Given the description of an element on the screen output the (x, y) to click on. 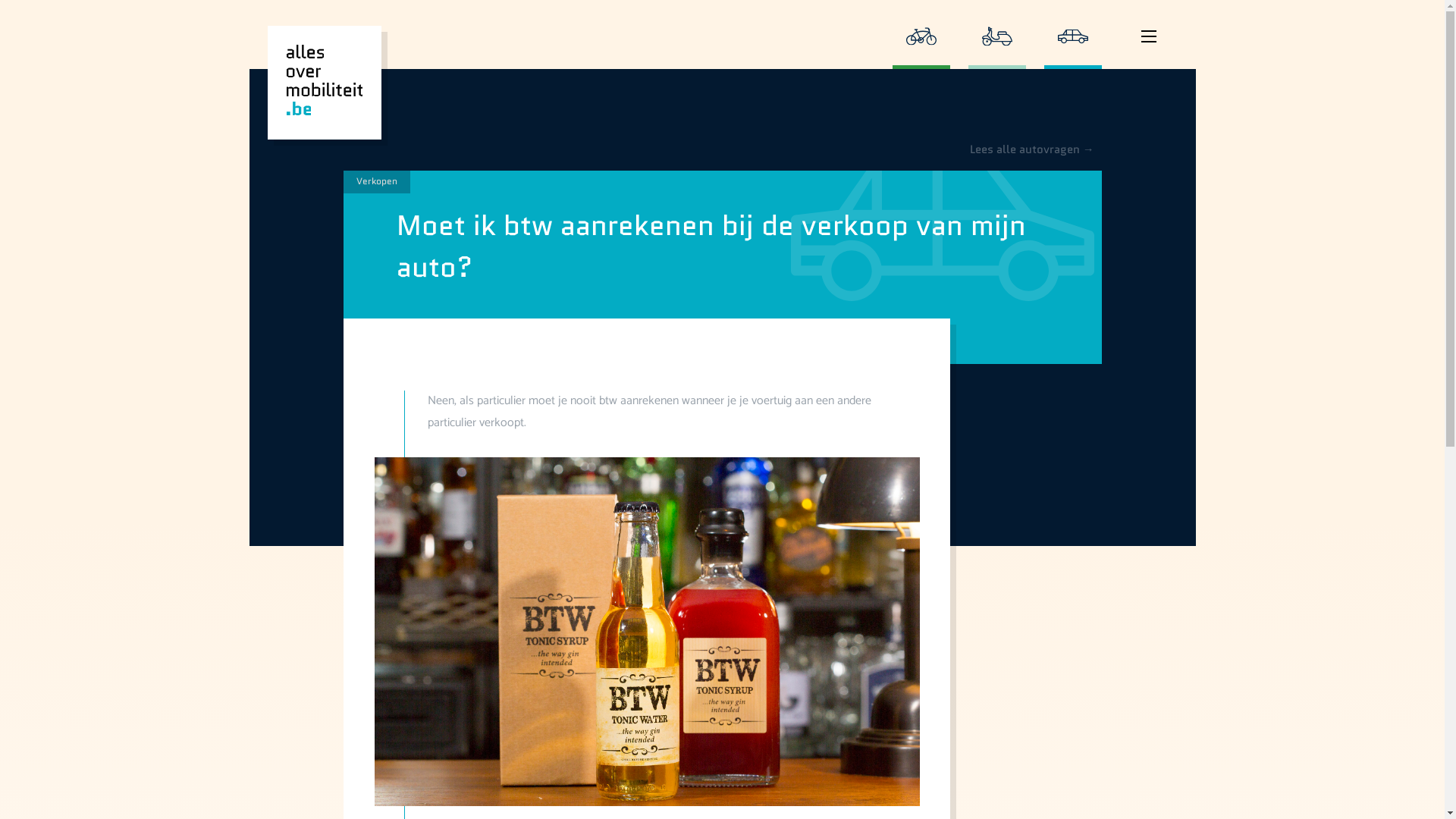
0 Element type: text (1072, 34)
0 Element type: text (920, 34)
0 Element type: text (996, 34)
0 Element type: text (1147, 49)
